Given the description of an element on the screen output the (x, y) to click on. 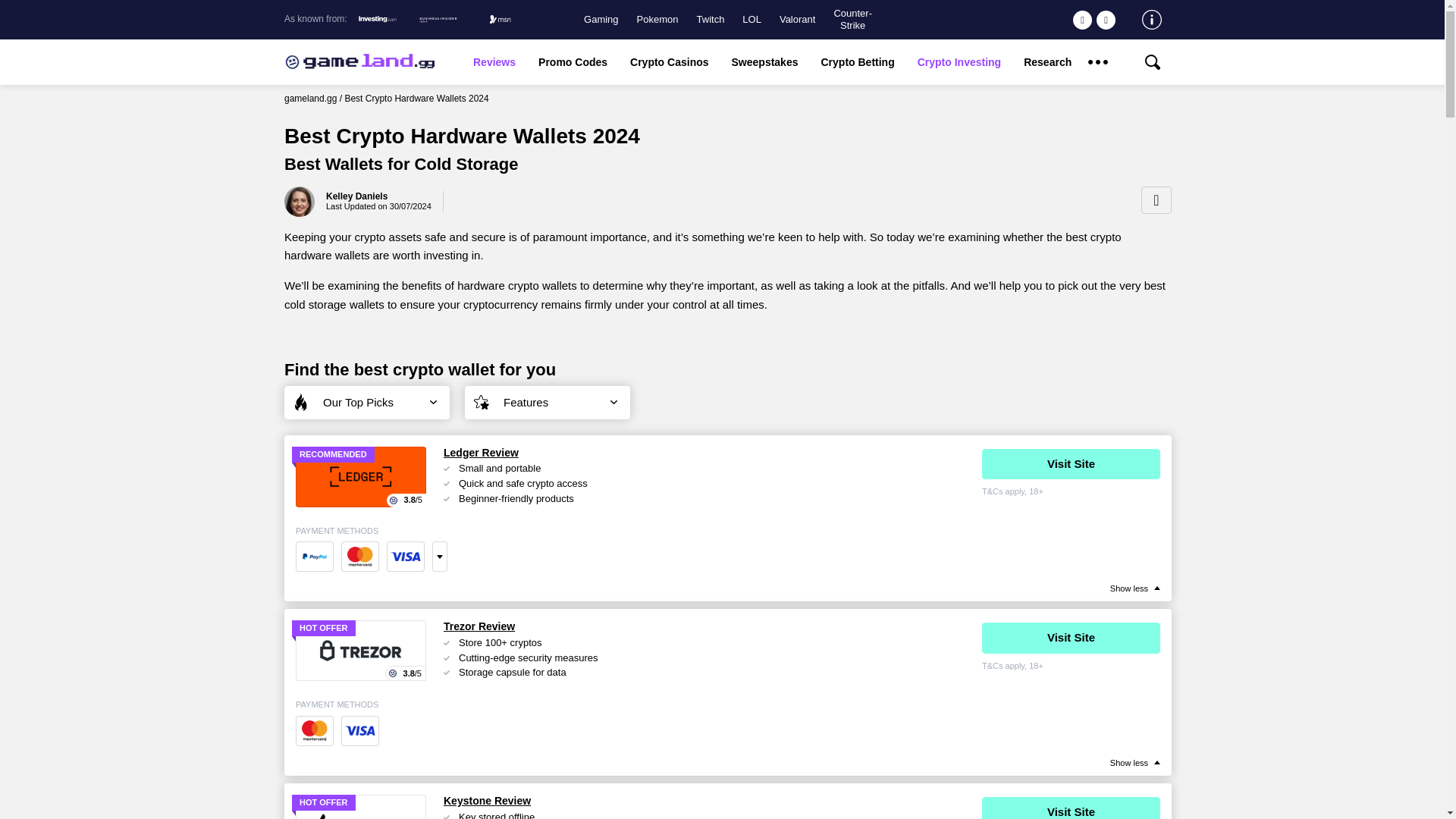
Mastercard (359, 556)
Counter-Strike (852, 19)
Facebook (1105, 19)
PayPal (314, 556)
Pokemon (657, 19)
Visa (359, 730)
Visa (406, 556)
Twitch (711, 19)
LOL (751, 19)
Gaming (600, 19)
